Given the description of an element on the screen output the (x, y) to click on. 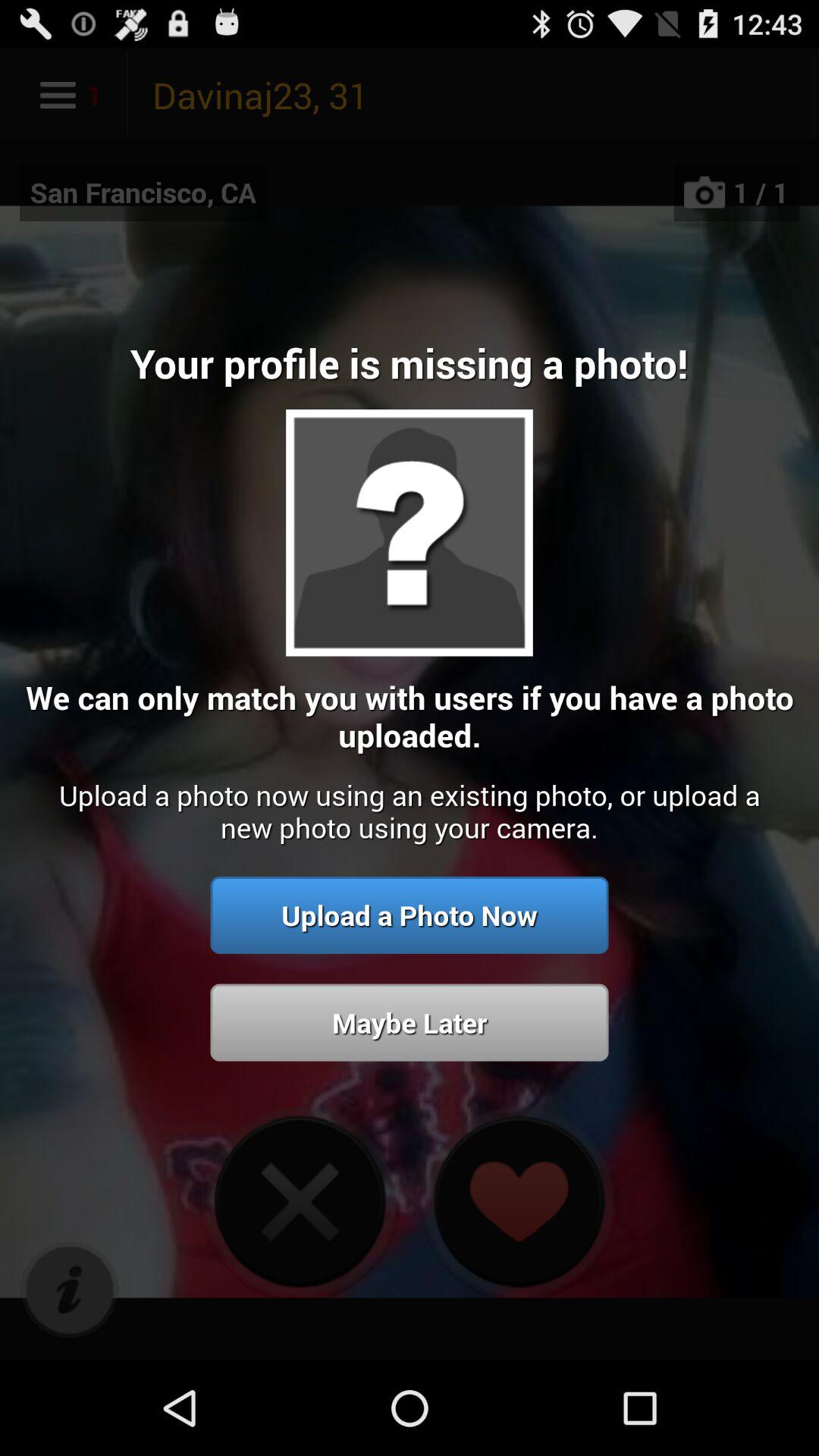
choose the maybe later button (409, 1022)
